Given the description of an element on the screen output the (x, y) to click on. 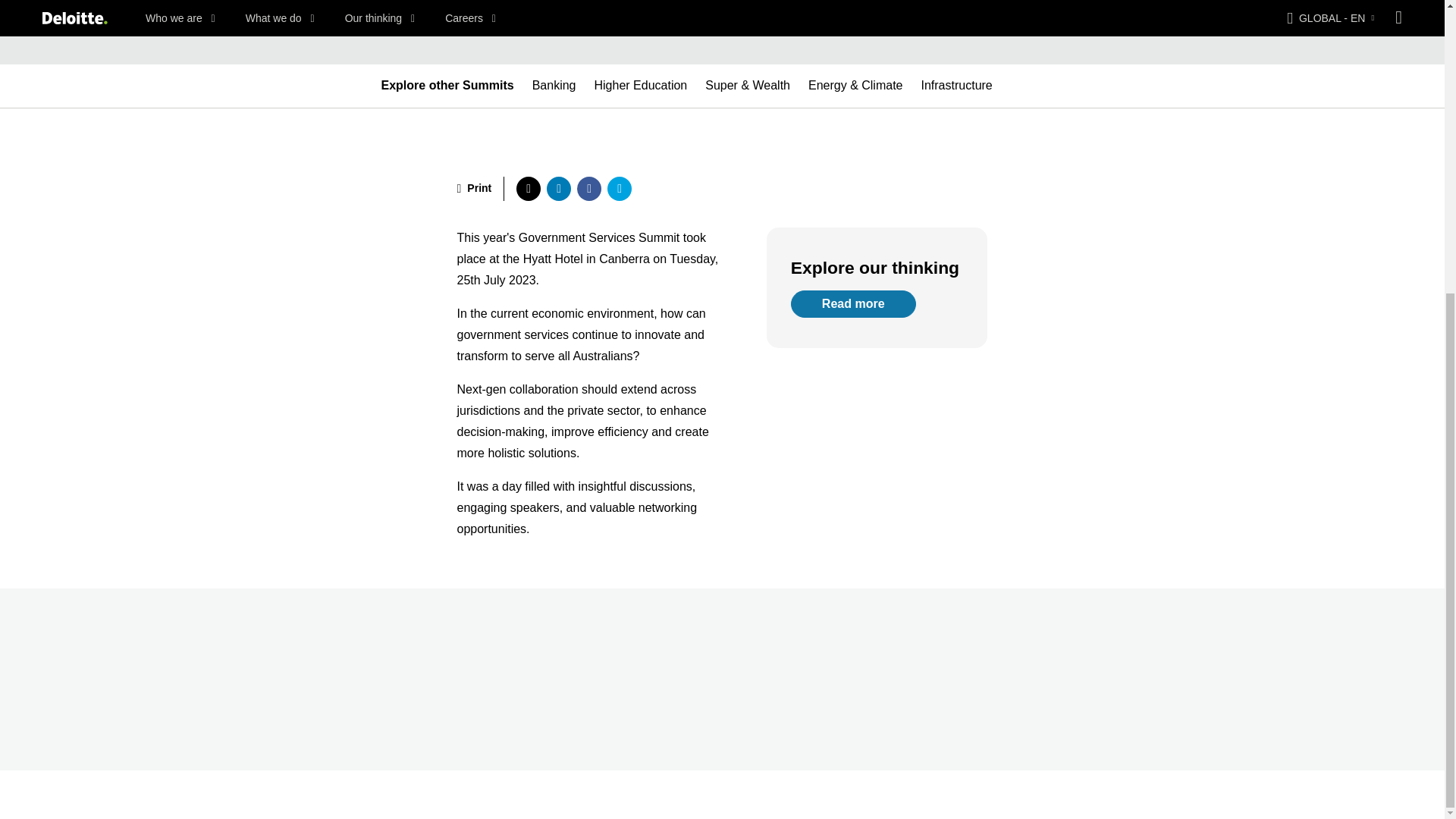
share via facebook (588, 187)
Print (474, 187)
share via linkedin (558, 187)
share via twitter (528, 187)
share via email (619, 187)
